Given the description of an element on the screen output the (x, y) to click on. 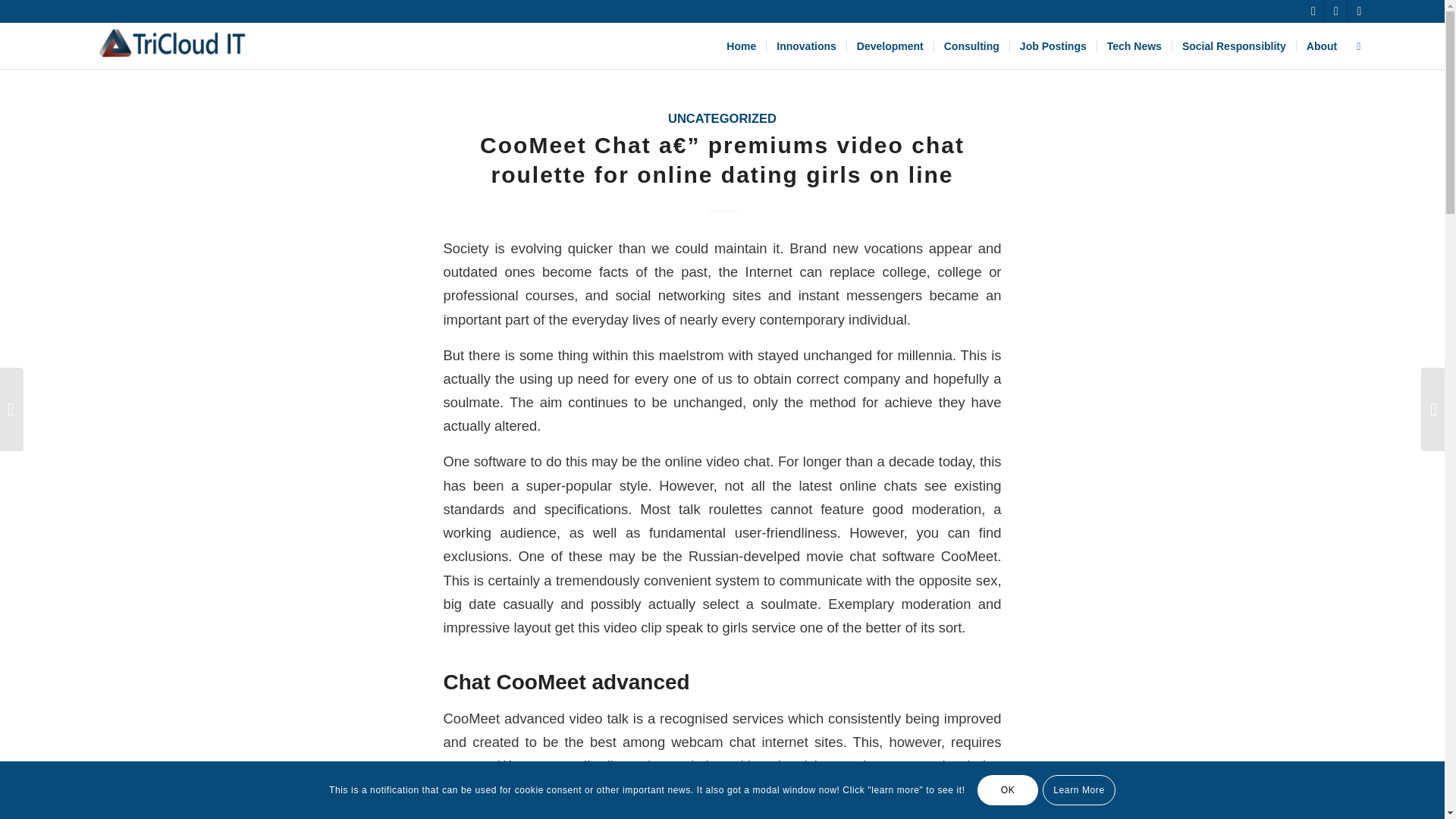
OK (1007, 789)
UNCATEGORIZED (722, 118)
Learn More (1078, 789)
Instagram (1359, 11)
Dribbble (1335, 11)
Innovations (805, 45)
Twitter (1312, 11)
Tech News (1134, 45)
Consulting (971, 45)
Social Responsiblity (1233, 45)
